Given the description of an element on the screen output the (x, y) to click on. 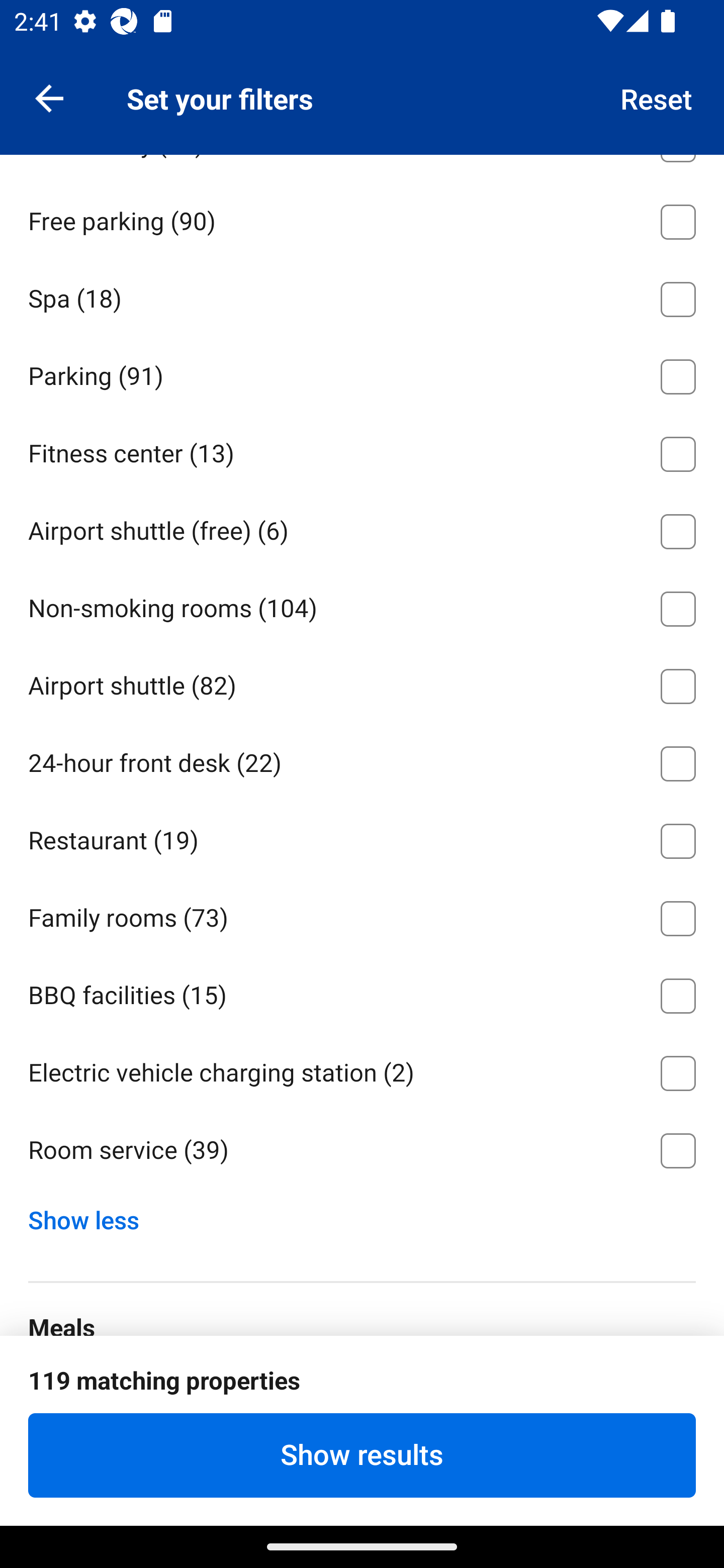
Navigate up (49, 97)
Reset (656, 97)
Free parking ⁦(90) (361, 218)
Spa ⁦(18) (361, 295)
Parking ⁦(91) (361, 372)
Fitness center ⁦(13) (361, 450)
Airport shuttle (free) ⁦(6) (361, 528)
Non-smoking rooms ⁦(104) (361, 605)
Airport shuttle ⁦(82) (361, 682)
24-hour front desk ⁦(22) (361, 760)
Restaurant ⁦(19) (361, 837)
Family rooms ⁦(73) (361, 914)
BBQ facilities ⁦(15) (361, 992)
Electric vehicle charging station ⁦(2) (361, 1069)
Room service ⁦(39) (361, 1150)
Show less (90, 1215)
Breakfast Included ⁦(61) (361, 1395)
Show results (361, 1454)
